Given the description of an element on the screen output the (x, y) to click on. 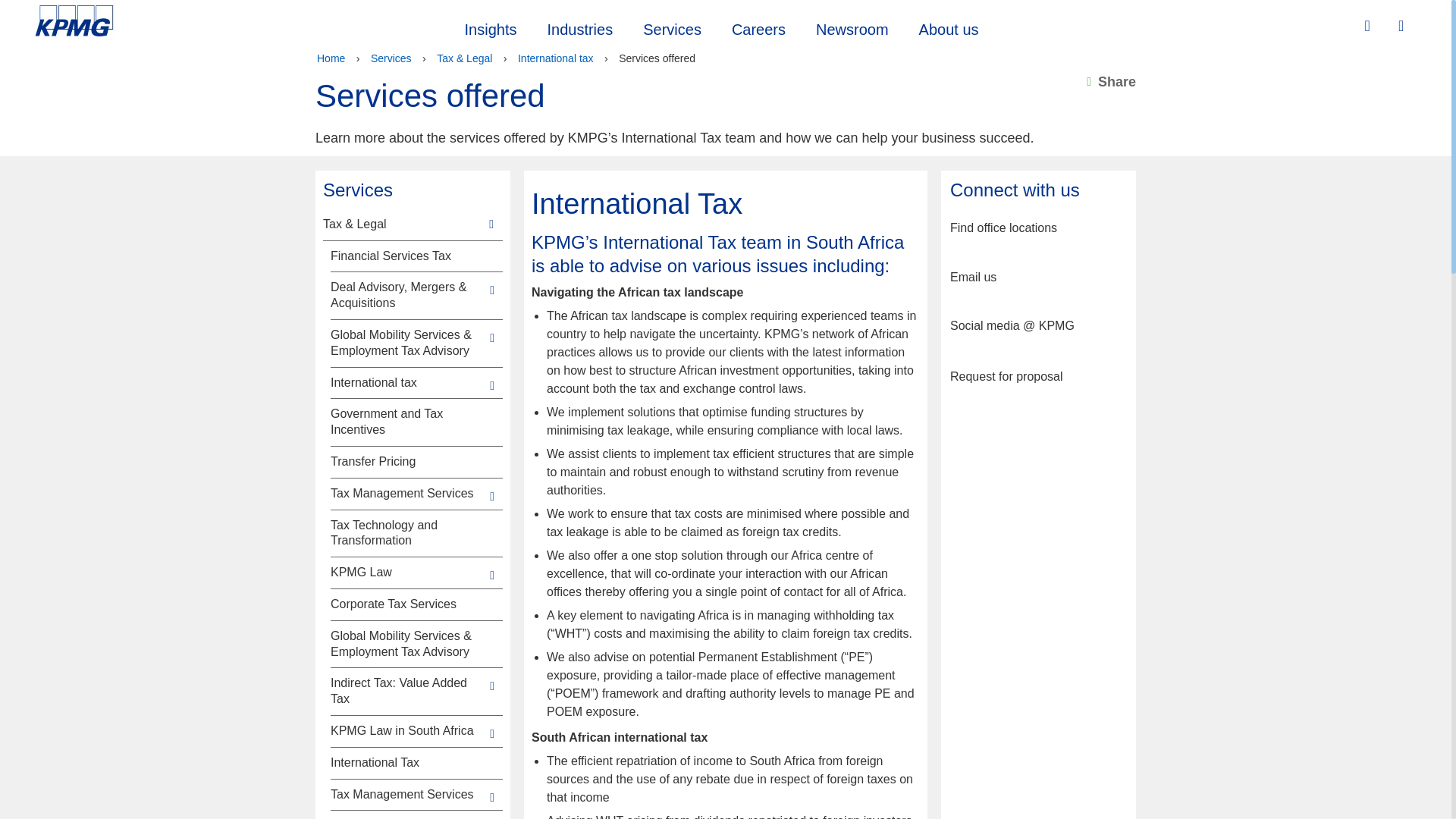
About us (949, 27)
Home (330, 58)
Industries (579, 27)
Search (1369, 26)
Site Selector (1402, 26)
International tax (555, 58)
Tax Management Services (407, 494)
Careers (758, 27)
Services (391, 58)
Newsroom (852, 27)
KPMG Law (407, 572)
Transfer Pricing (407, 462)
Financial Services Tax (407, 256)
Government and Tax Incentives (407, 422)
Tax Technology and Transformation (407, 533)
